Given the description of an element on the screen output the (x, y) to click on. 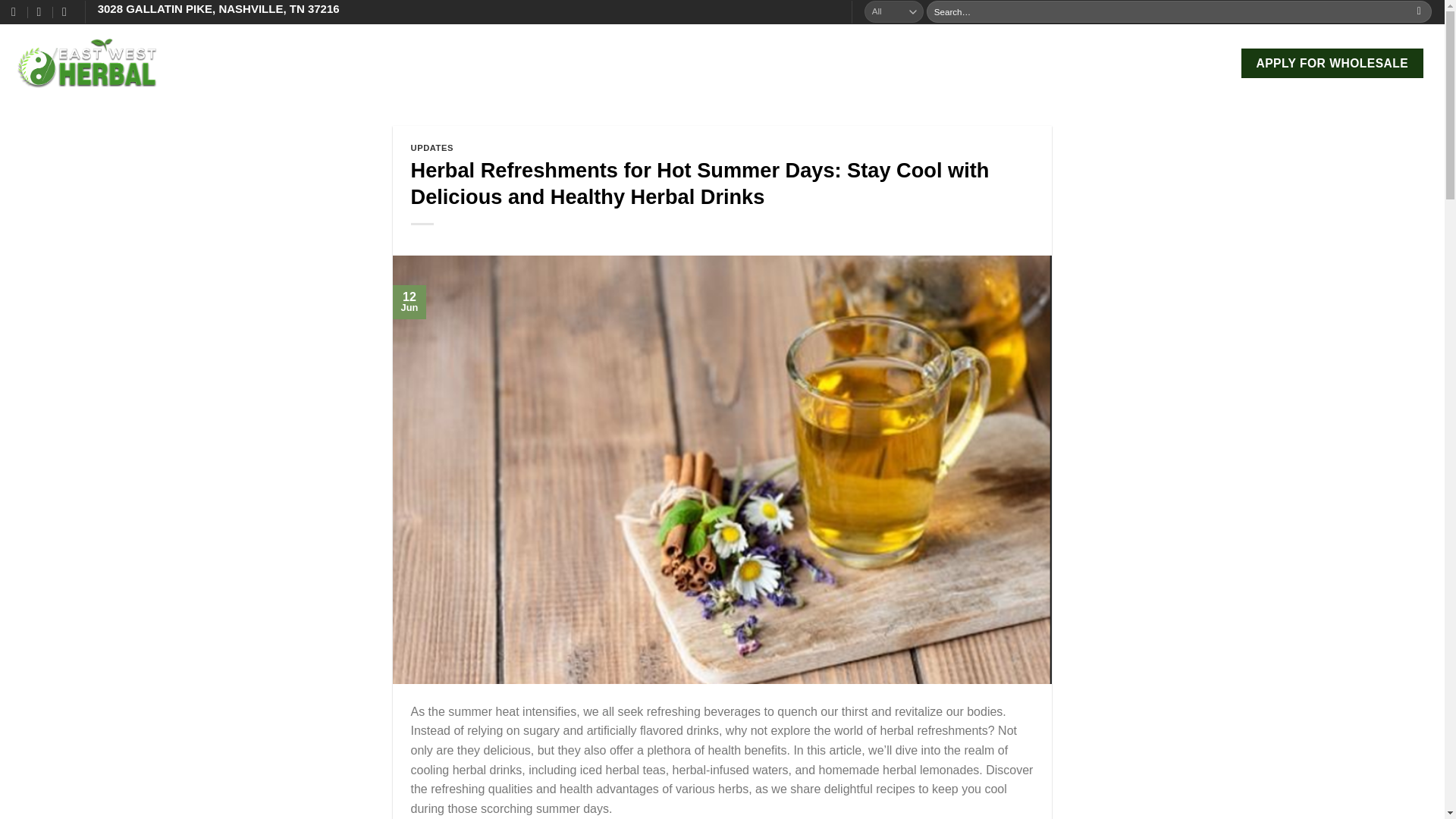
SHOP BY CATEGORY (325, 62)
3028 GALLATIN PIKE, NASHVILLE, TN 37216 (218, 8)
ABOUT US (215, 62)
SHOP BY INTEREST (464, 62)
Search (1418, 11)
LEARN (565, 62)
